Given the description of an element on the screen output the (x, y) to click on. 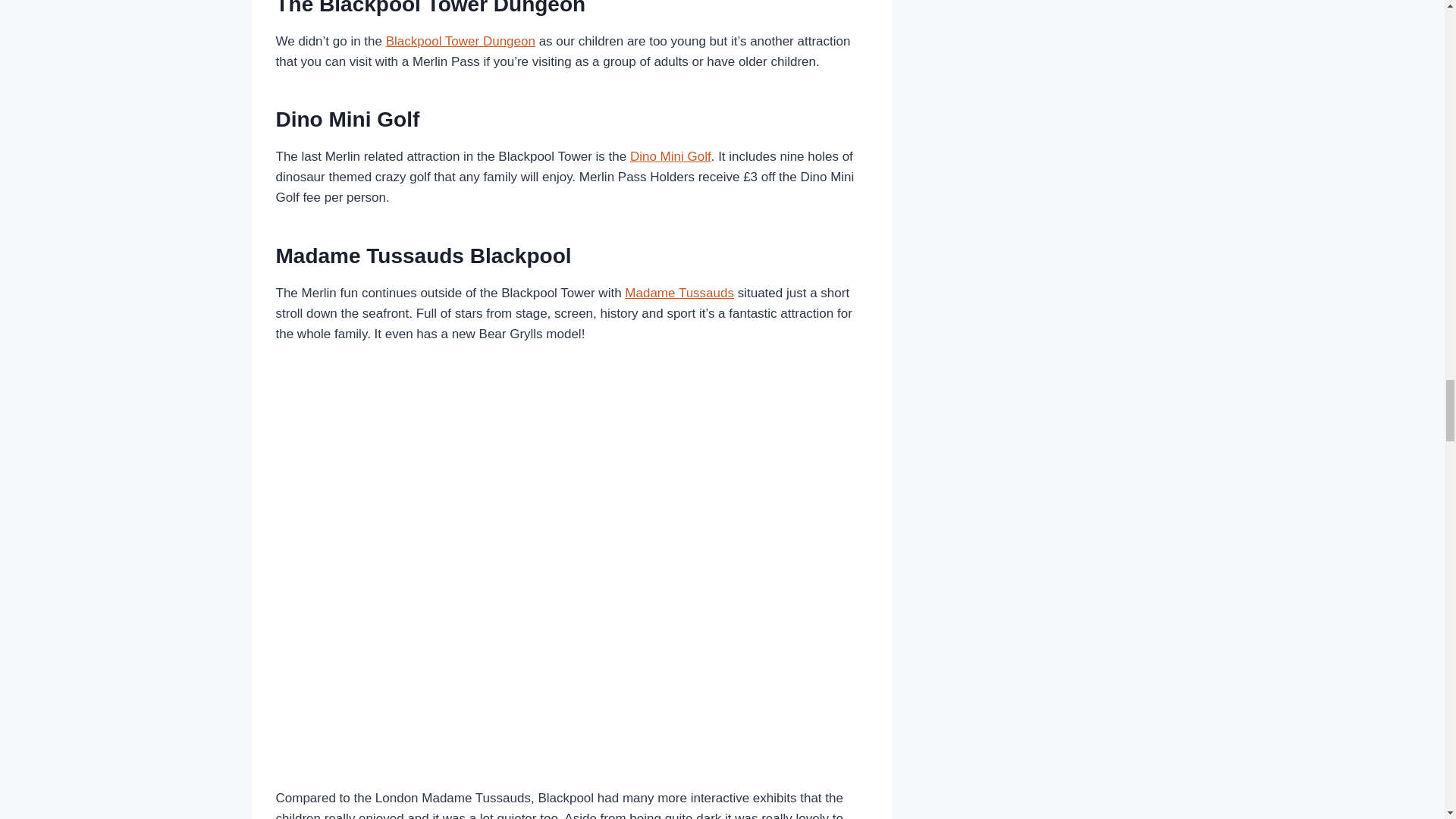
Madame Tussauds (678, 292)
Dino Mini Golf (670, 156)
Blackpool Tower Dungeon (460, 41)
